Given the description of an element on the screen output the (x, y) to click on. 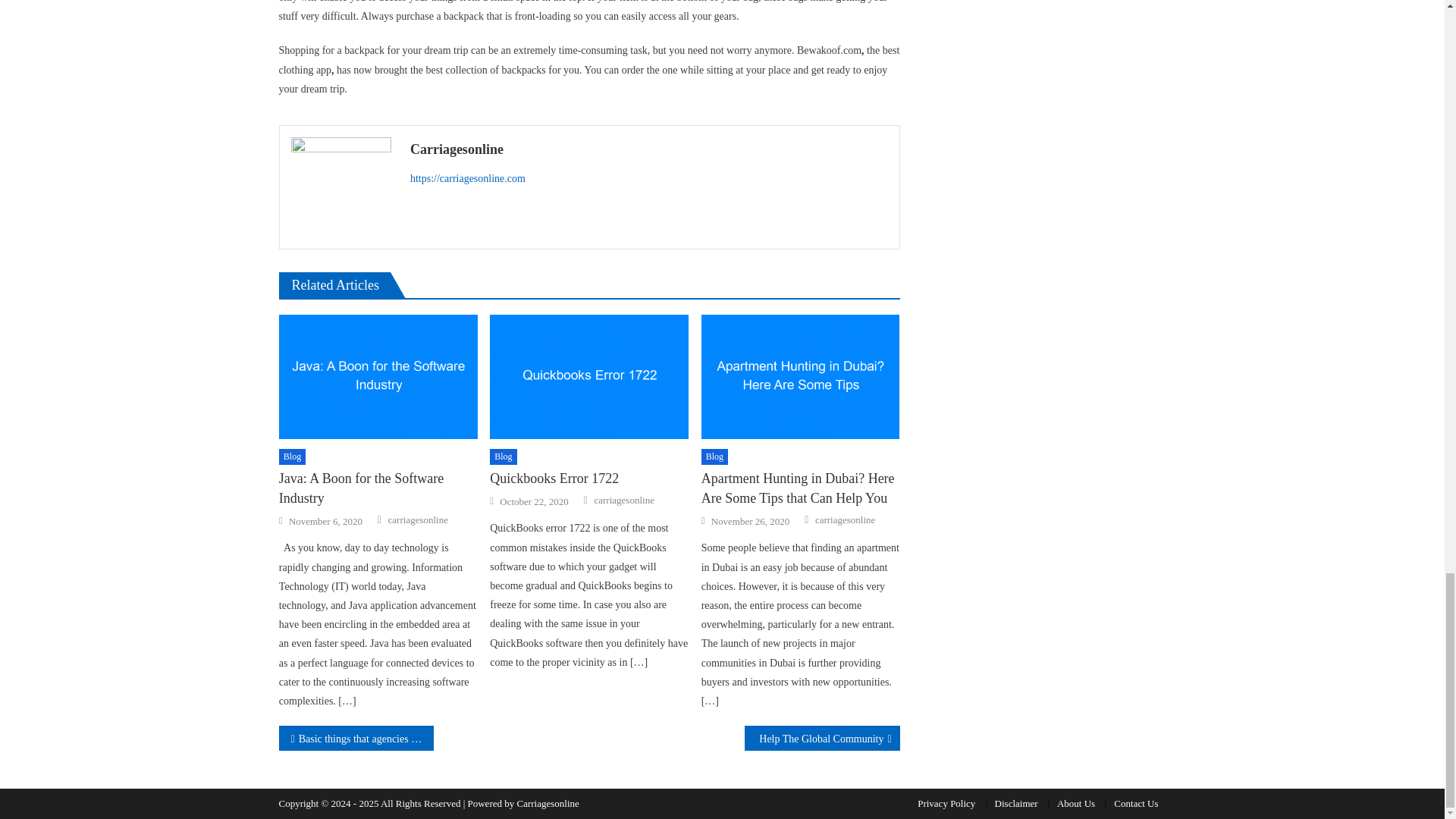
Quickbooks Error 1722 (588, 376)
Java: A Boon for the Software Industry (378, 376)
